Given the description of an element on the screen output the (x, y) to click on. 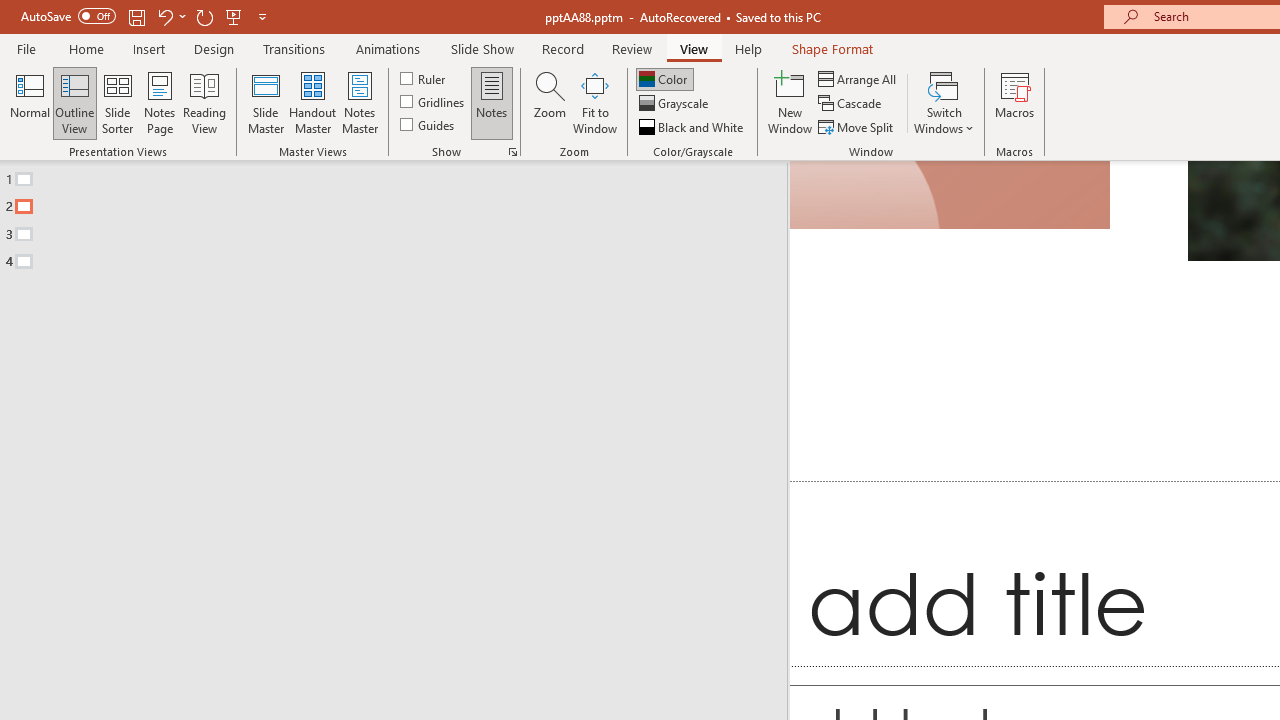
Outline View (74, 102)
New Window (790, 102)
Camera 13, No camera detected. (950, 195)
Cascade (851, 103)
Slide Master (265, 102)
Black and White (693, 126)
